Given the description of an element on the screen output the (x, y) to click on. 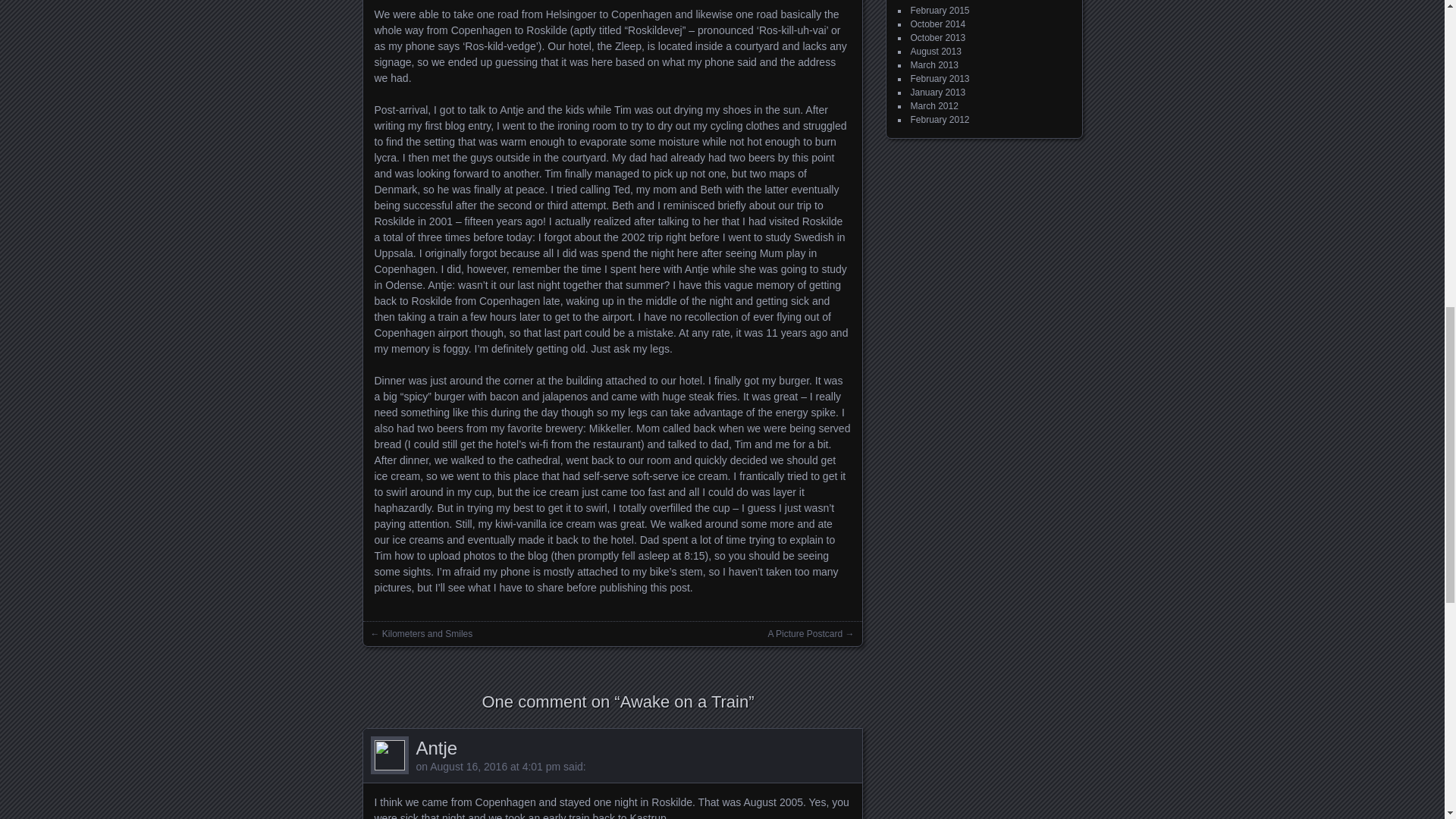
October 2014 (937, 23)
October 2013 (937, 37)
Kilometers and Smiles (426, 633)
August 16, 2016 at 4:01 pm (494, 766)
A Picture Postcard (805, 633)
March 2015 (934, 1)
February 2015 (939, 9)
